Given the description of an element on the screen output the (x, y) to click on. 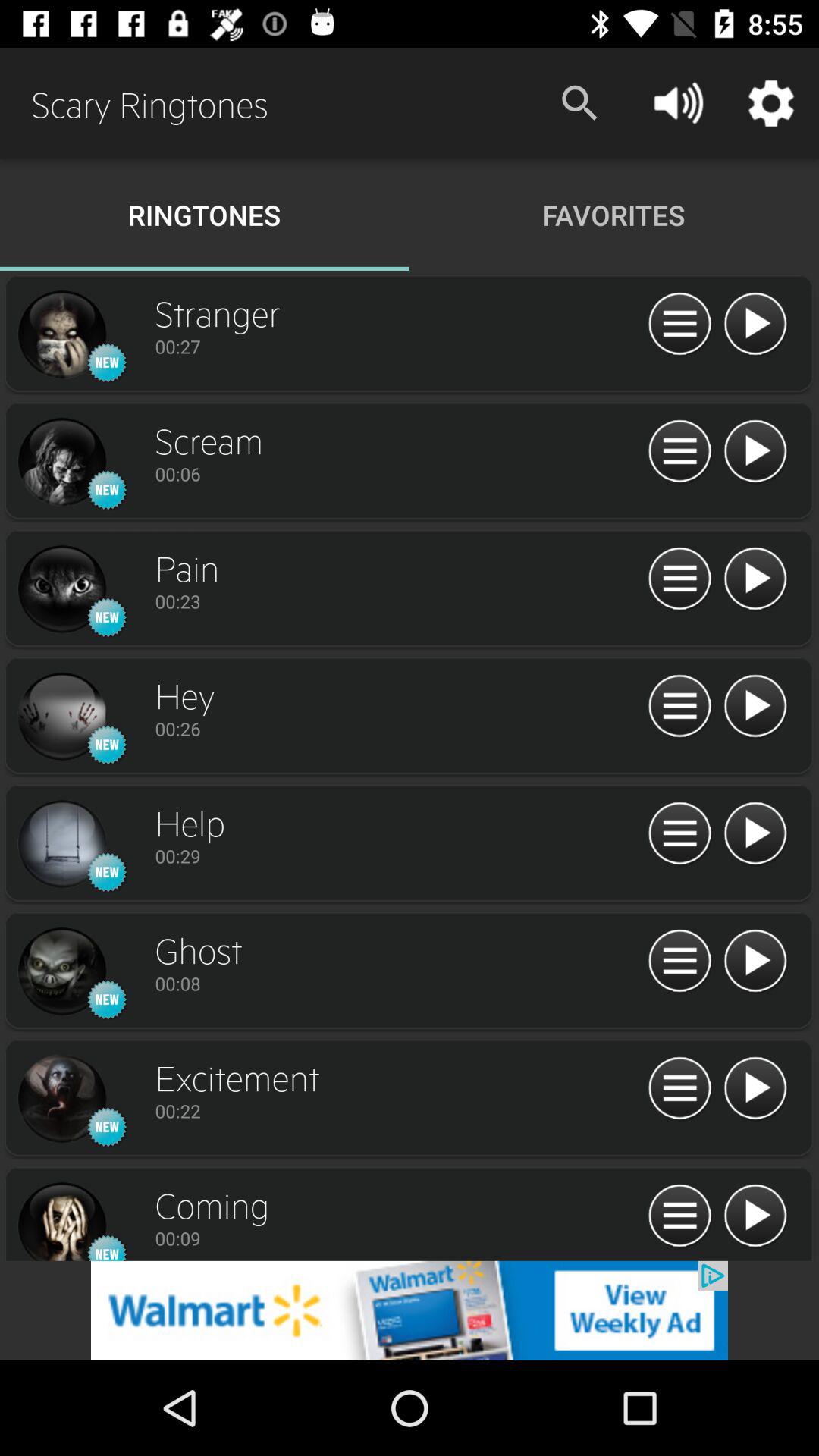
go to play song (755, 706)
